Given the description of an element on the screen output the (x, y) to click on. 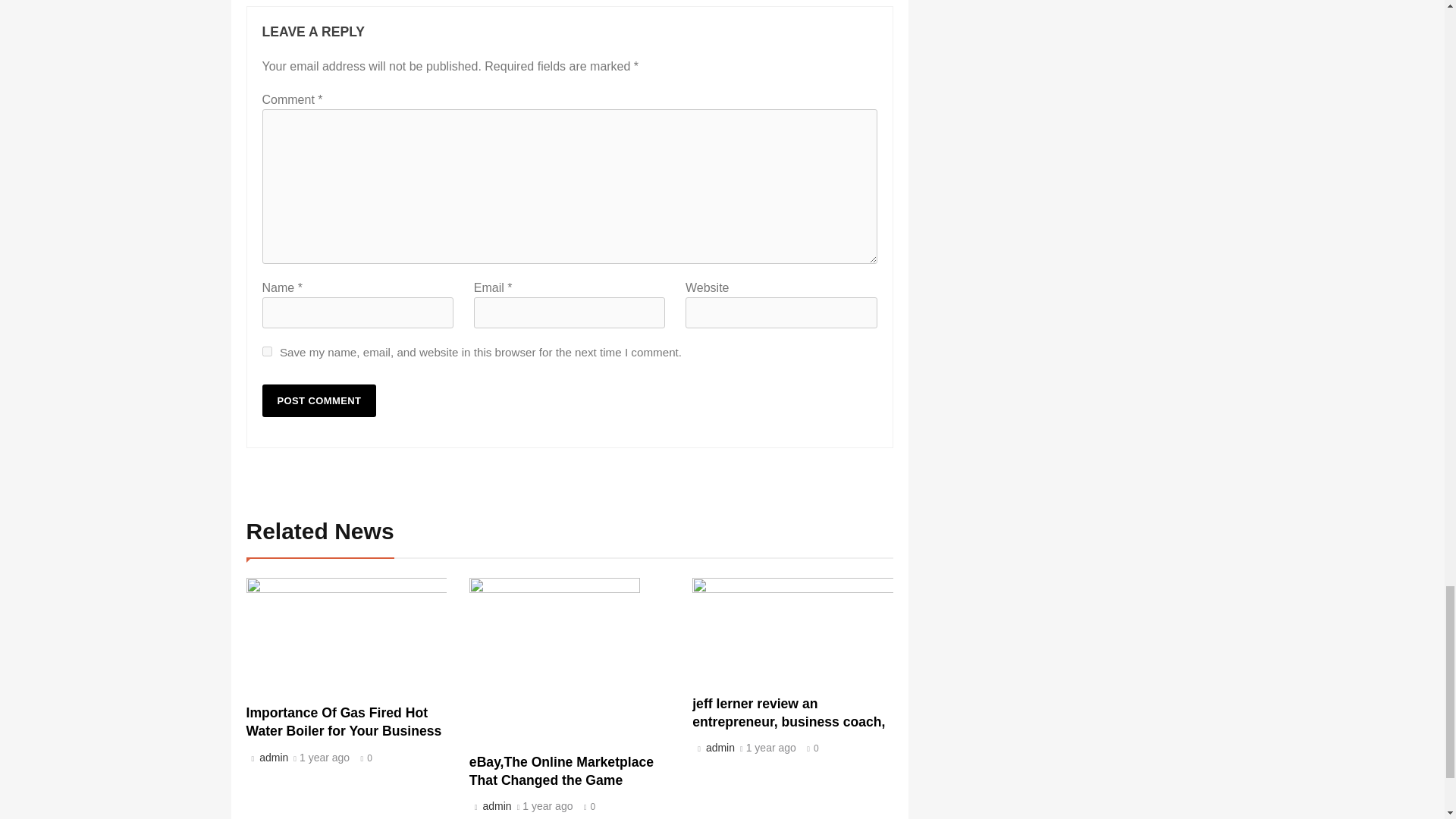
Post Comment (319, 400)
yes (267, 351)
